Given the description of an element on the screen output the (x, y) to click on. 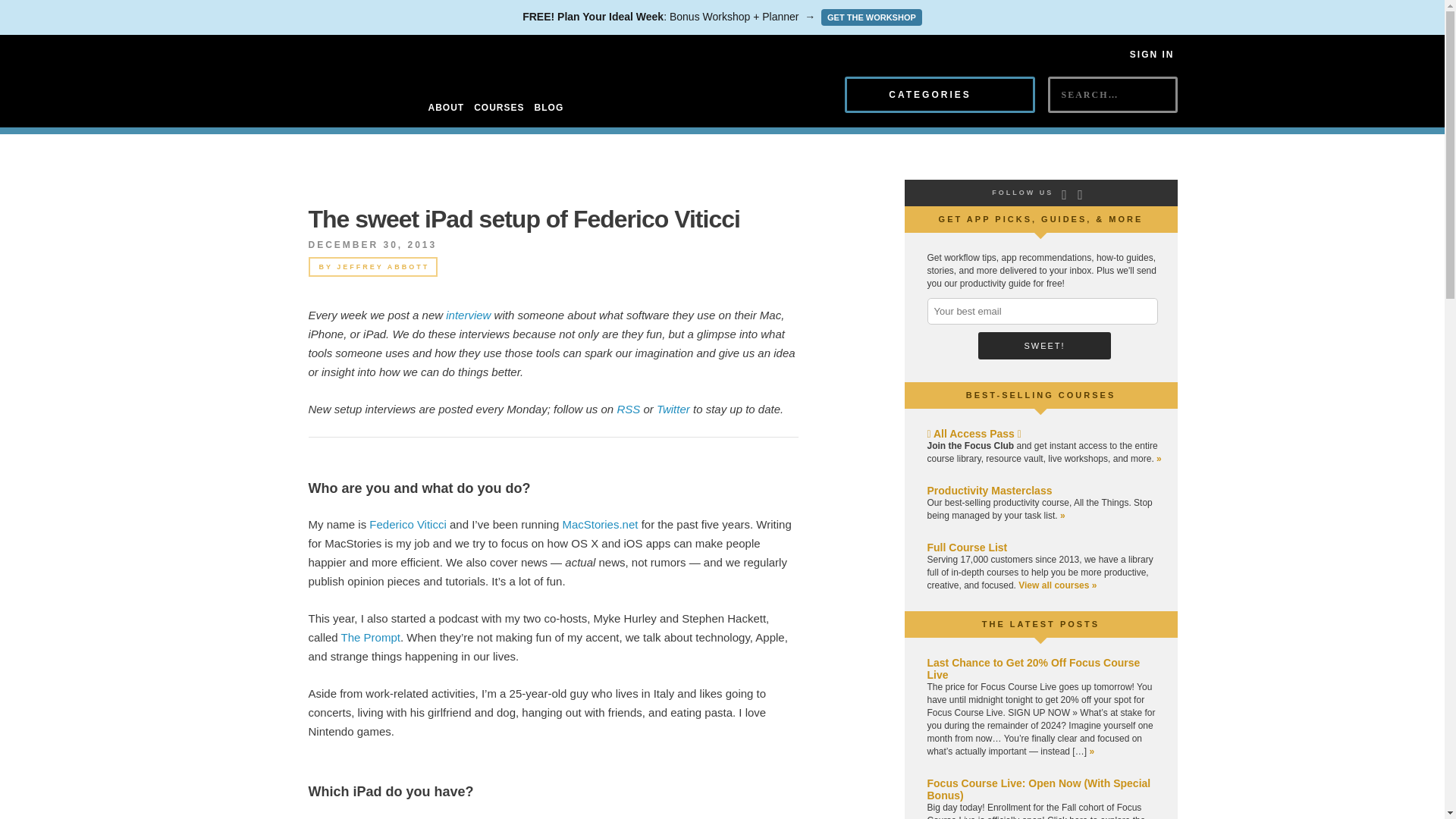
COURSES (499, 107)
Federico Viticci (407, 523)
GET THE WORKSHOP (871, 17)
The Prompt (370, 636)
ABOUT (446, 107)
CATEGORIES (939, 94)
BLOG (549, 107)
Twitter (673, 408)
interview (467, 314)
JEFFREY ABBOTT (382, 266)
